Given the description of an element on the screen output the (x, y) to click on. 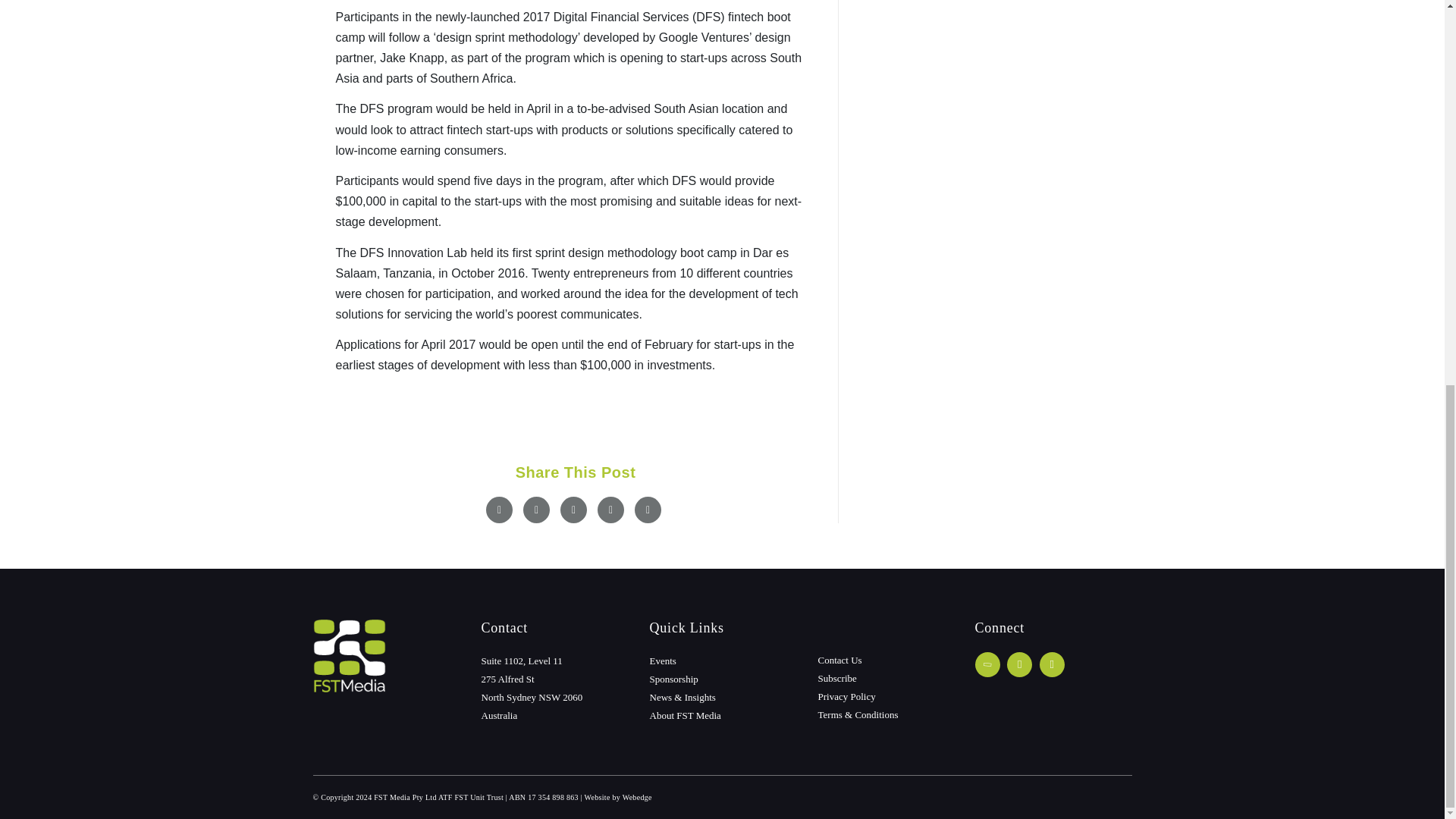
Facebook (499, 509)
LinkedIn (573, 509)
Twitter (536, 509)
WhatsApp (610, 509)
Email (647, 509)
